Given the description of an element on the screen output the (x, y) to click on. 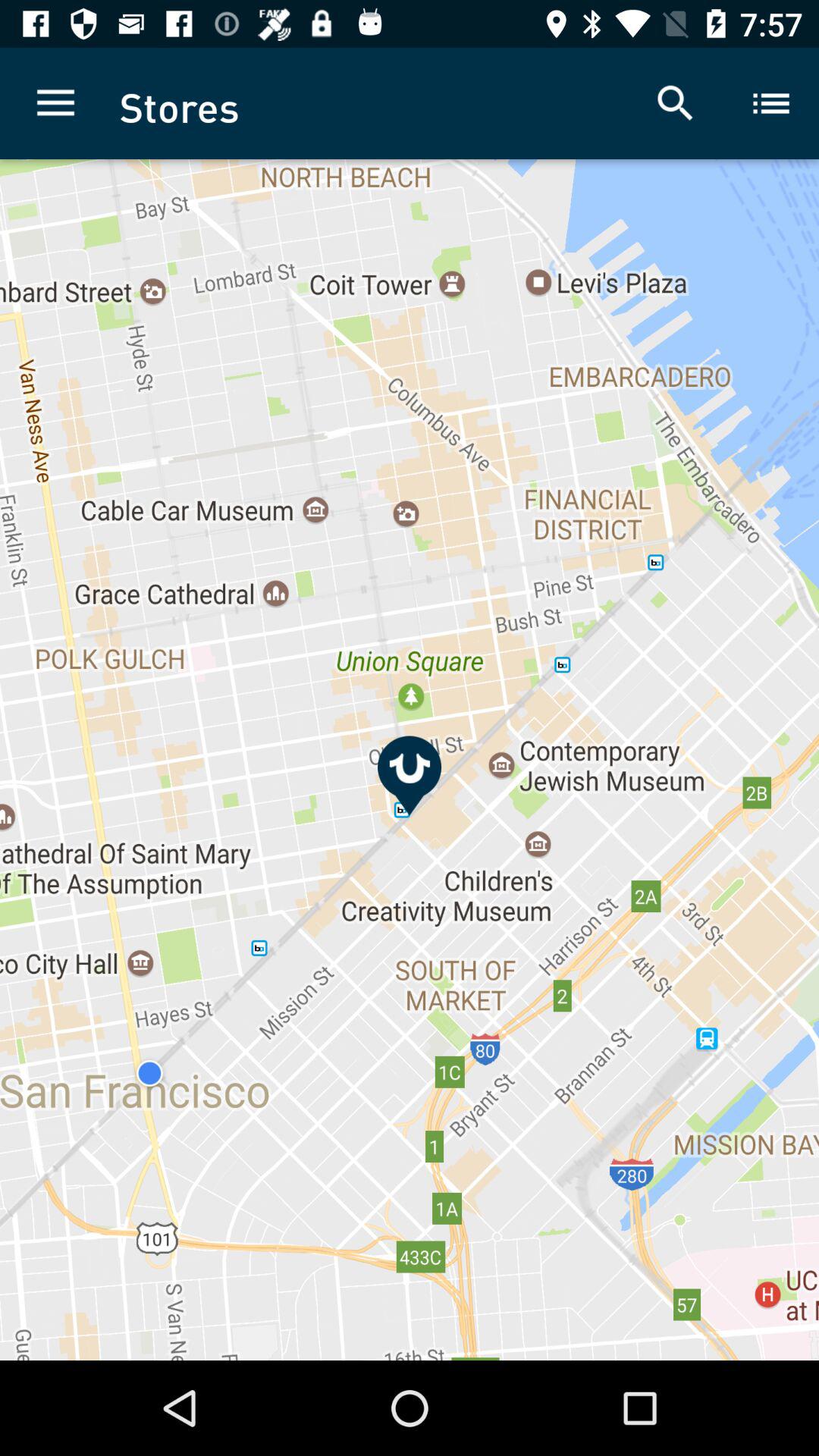
click icon next to stores (55, 103)
